Given the description of an element on the screen output the (x, y) to click on. 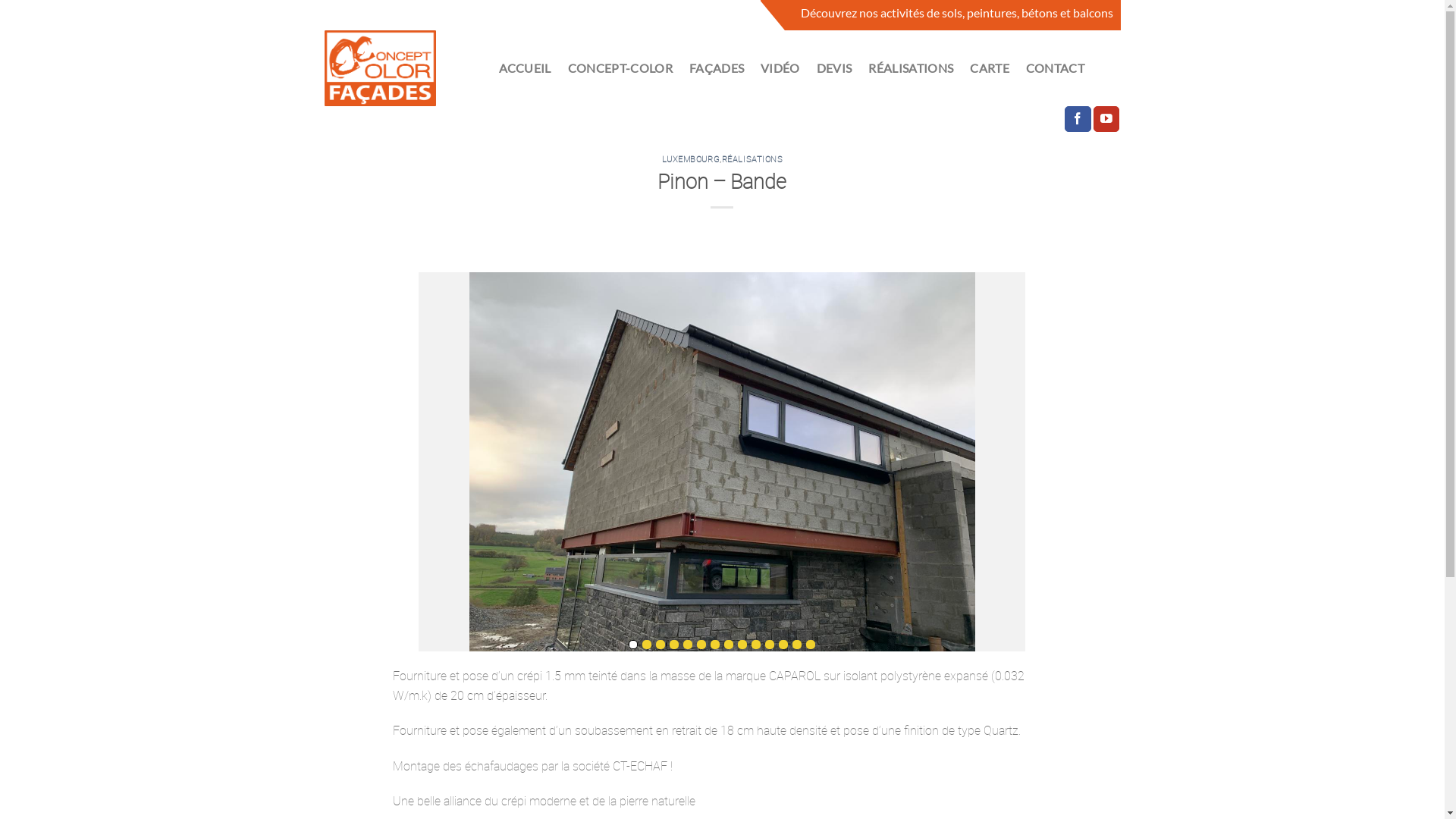
ACCUEIL Element type: text (524, 67)
CONTACT Element type: text (1055, 67)
Concept-Color Element type: hover (400, 68)
CONCEPT-COLOR Element type: text (619, 67)
DEVIS Element type: text (834, 67)
CARTE Element type: text (989, 67)
LUXEMBOURG Element type: text (691, 158)
Skip to content Element type: text (0, 0)
